Given the description of an element on the screen output the (x, y) to click on. 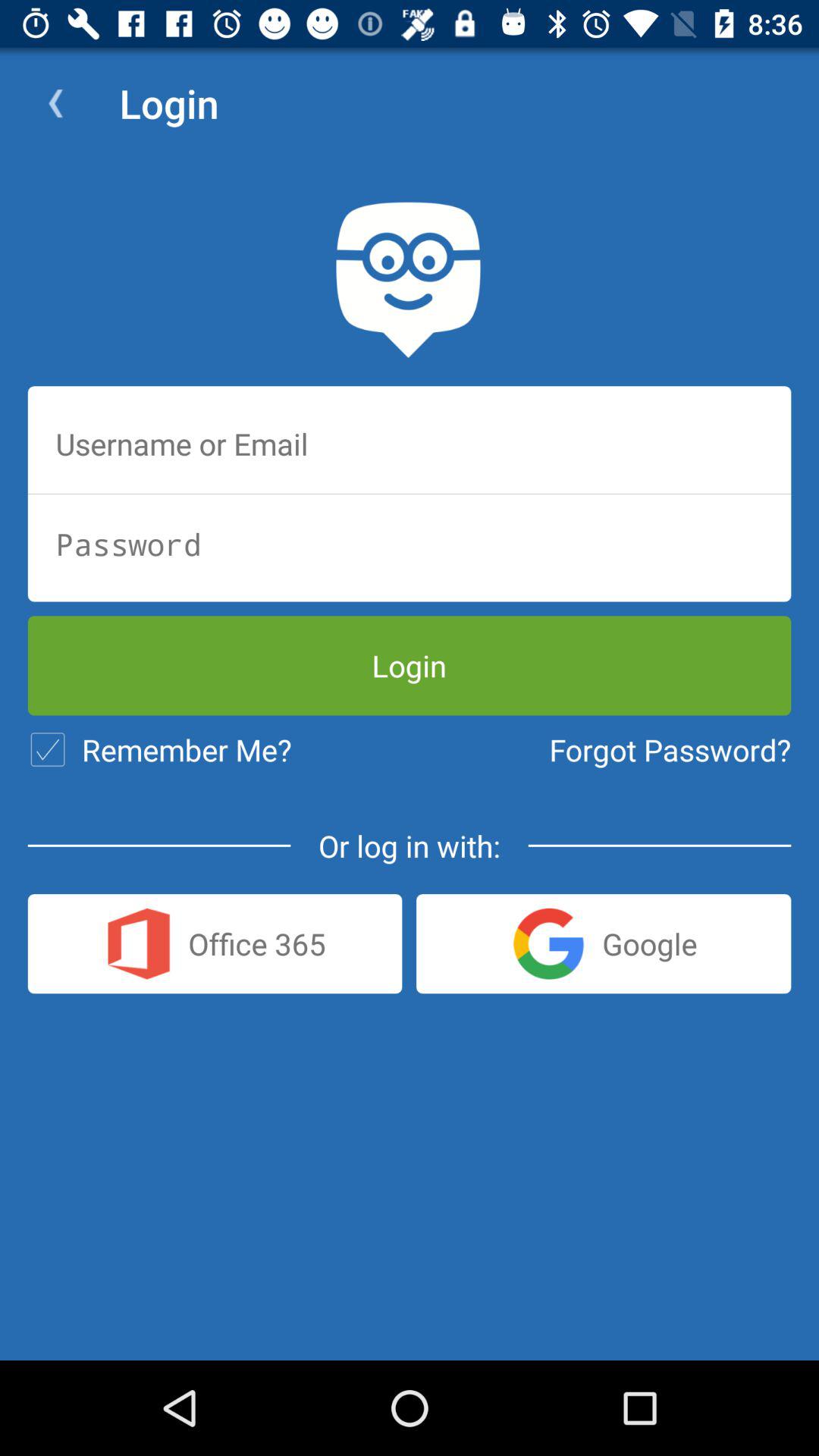
enter username or email (409, 443)
